Given the description of an element on the screen output the (x, y) to click on. 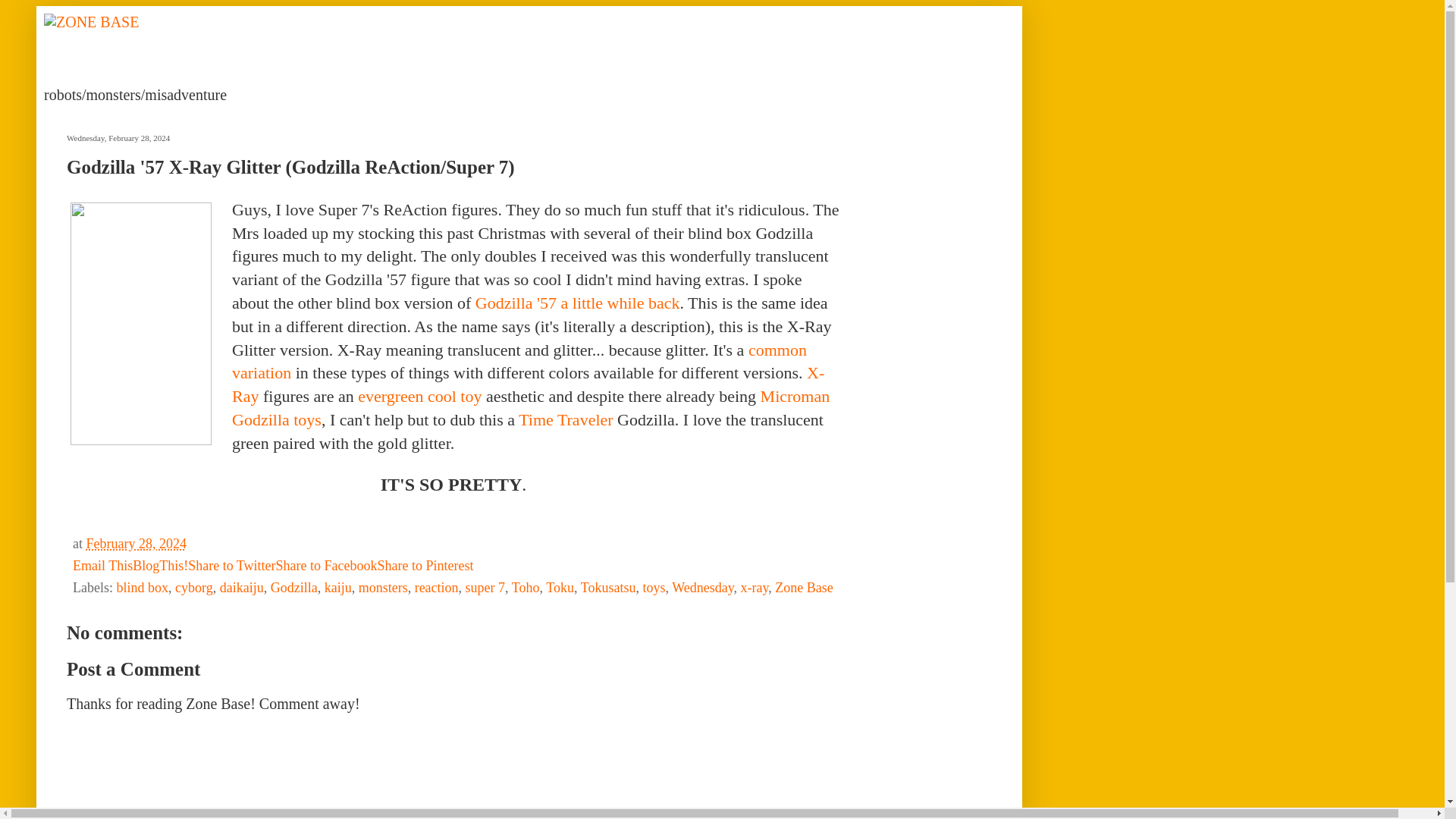
BlogThis! (159, 565)
Toku (559, 587)
super 7 (485, 587)
x-ray (753, 587)
evergreen cool toy (419, 395)
cyborg (193, 587)
reaction (436, 587)
Share to Pinterest (425, 565)
Share to Pinterest (425, 565)
Tokusatsu (608, 587)
Toho (526, 587)
Microman Godzilla toys (530, 407)
Share to Facebook (326, 565)
BlogThis! (159, 565)
monsters (382, 587)
